Given the description of an element on the screen output the (x, y) to click on. 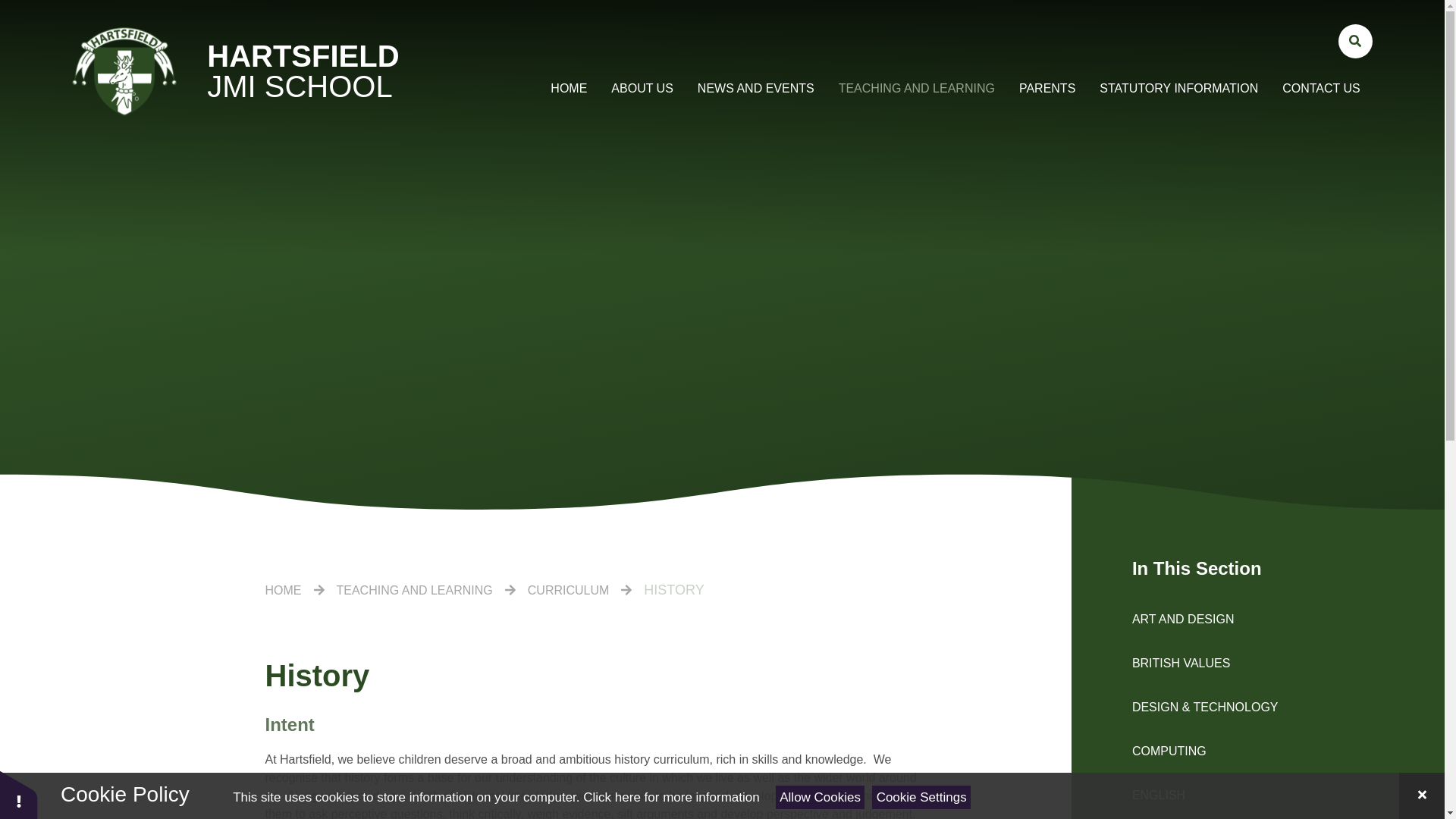
HOME (568, 88)
NEWS AND EVENTS (756, 88)
ABOUT US (641, 88)
